Given the description of an element on the screen output the (x, y) to click on. 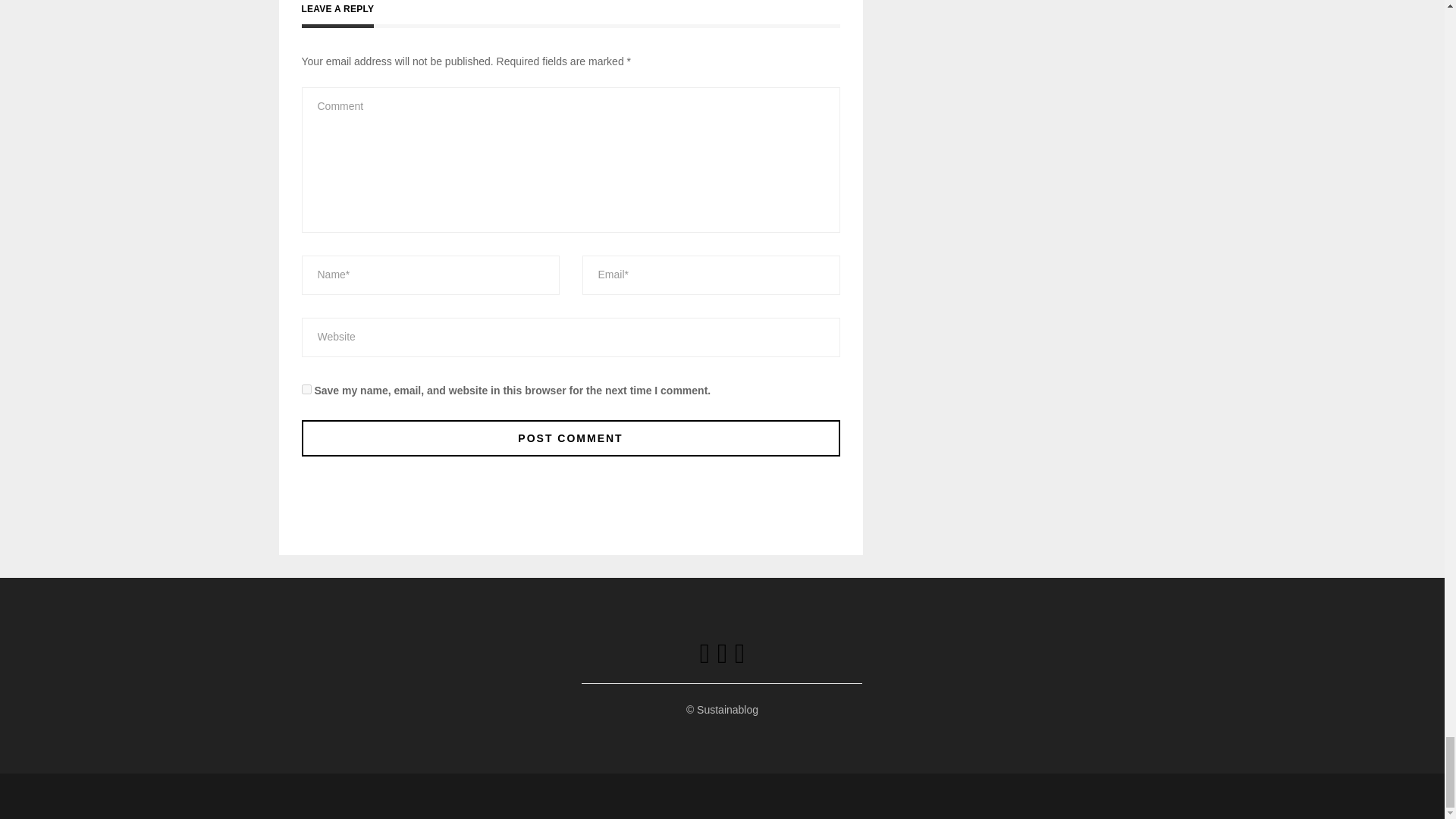
yes (306, 388)
Post Comment (570, 438)
